Given the description of an element on the screen output the (x, y) to click on. 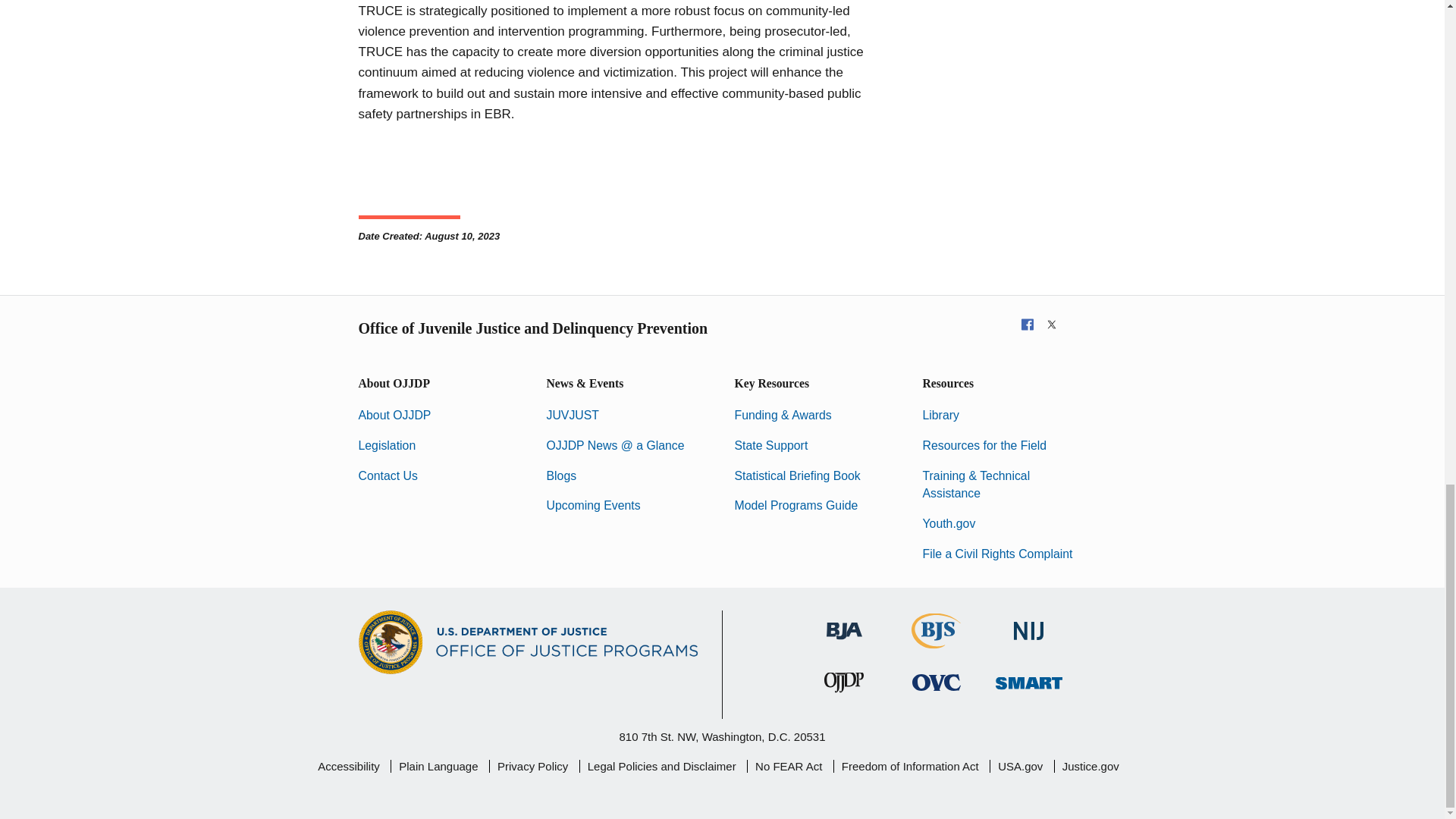
Contact Us (387, 475)
About OJJDP (394, 414)
Legislation (386, 445)
